Given the description of an element on the screen output the (x, y) to click on. 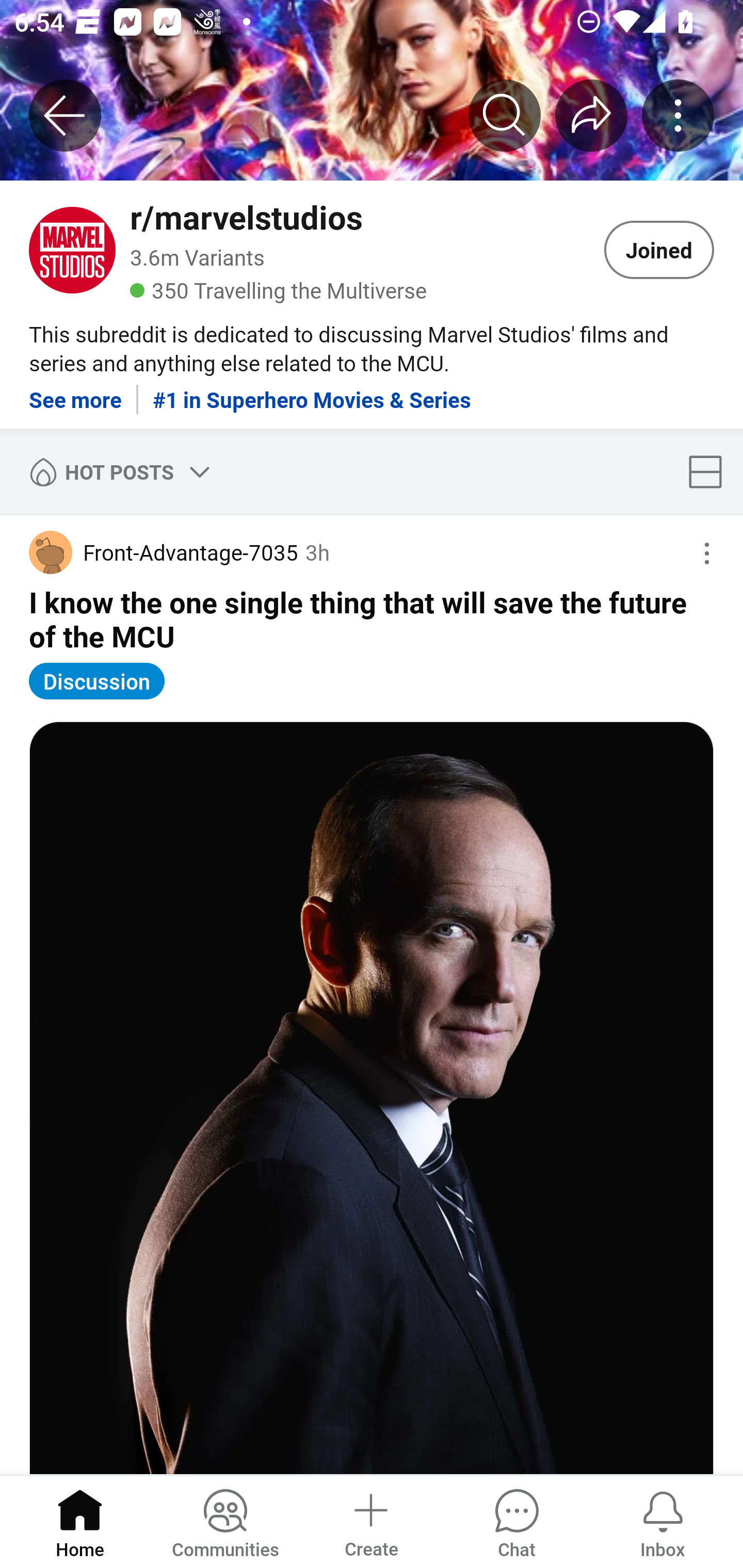
Back (64, 115)
Search r/﻿marvelstudios (504, 115)
Share r/﻿marvelstudios (591, 115)
More community actions (677, 115)
See more (74, 391)
#1 in Superhero Movies & Series (312, 391)
HOT POSTS Sort by Hot posts (115, 471)
Card display (711, 471)
Author Front-Advantage-7035 (162, 552)
Discussion (96, 681)
Image (371, 1097)
Home (80, 1520)
Communities (225, 1520)
Create a post Create (370, 1520)
Chat (516, 1520)
Inbox (662, 1520)
